Given the description of an element on the screen output the (x, y) to click on. 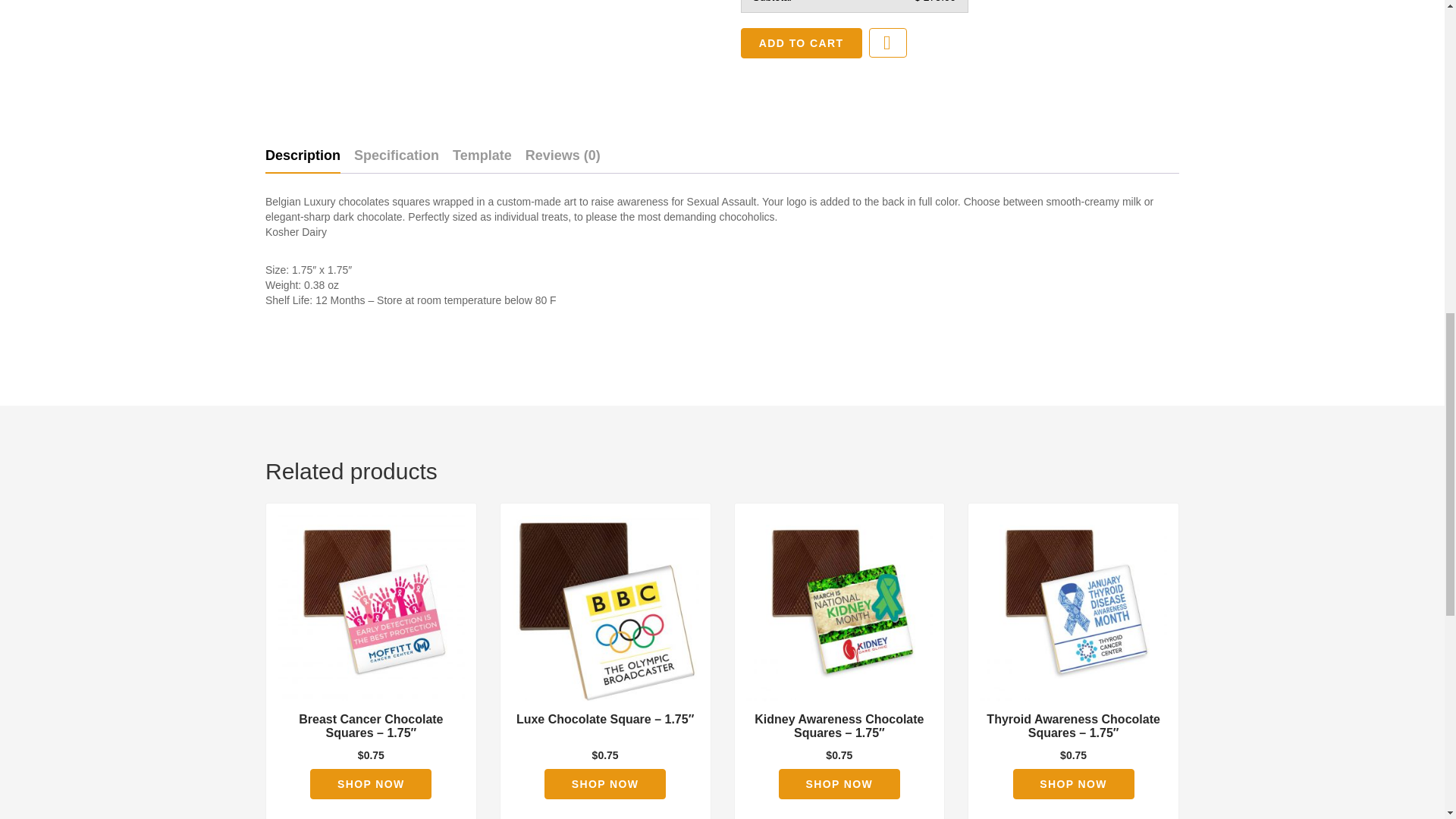
Specification (396, 154)
ADD TO CART (801, 42)
Description (302, 154)
PRODUCT ENQUIRY (888, 42)
